Given the description of an element on the screen output the (x, y) to click on. 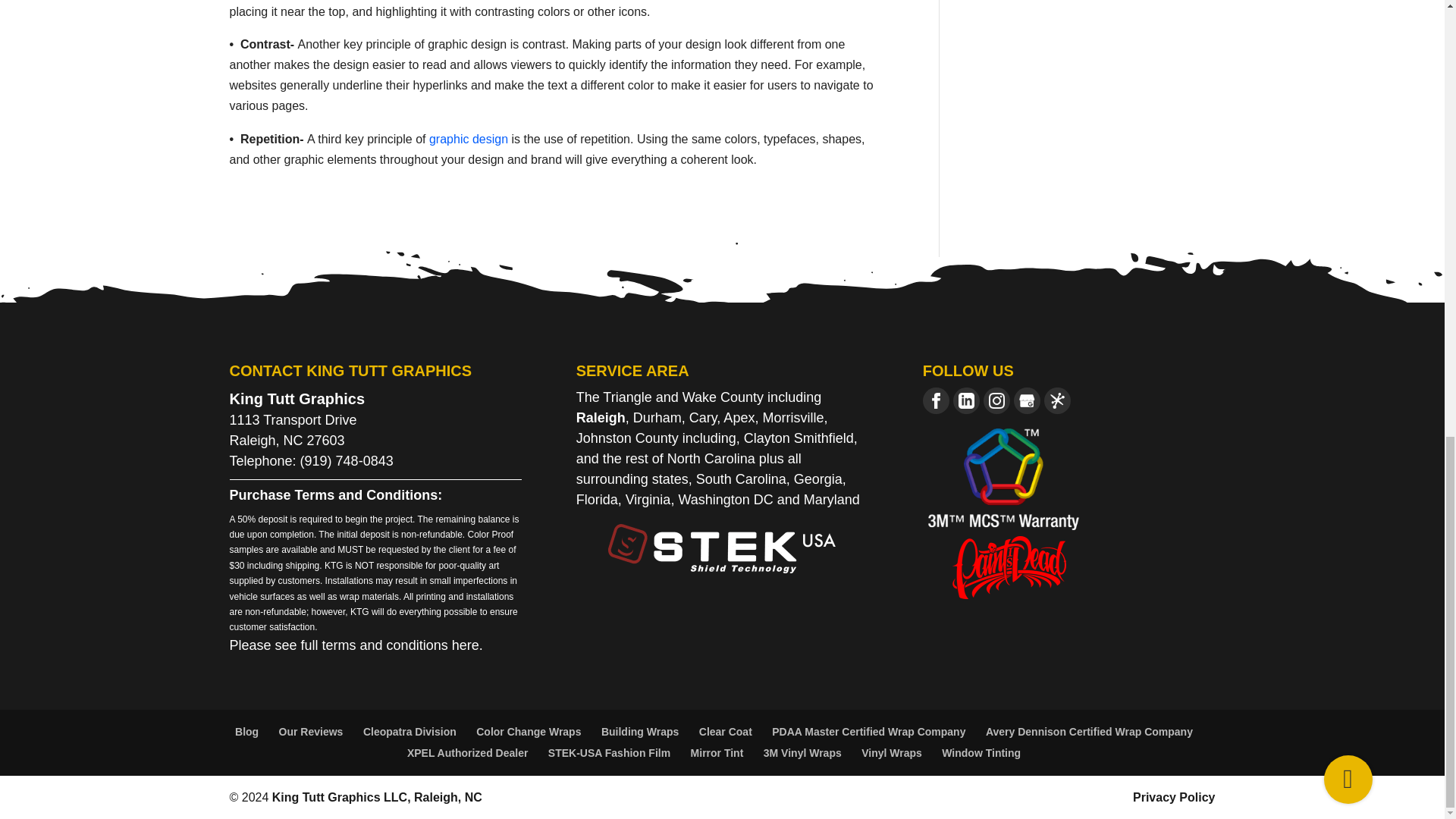
Facebook (936, 400)
LinkedIn (966, 400)
Facebook (935, 400)
